Given the description of an element on the screen output the (x, y) to click on. 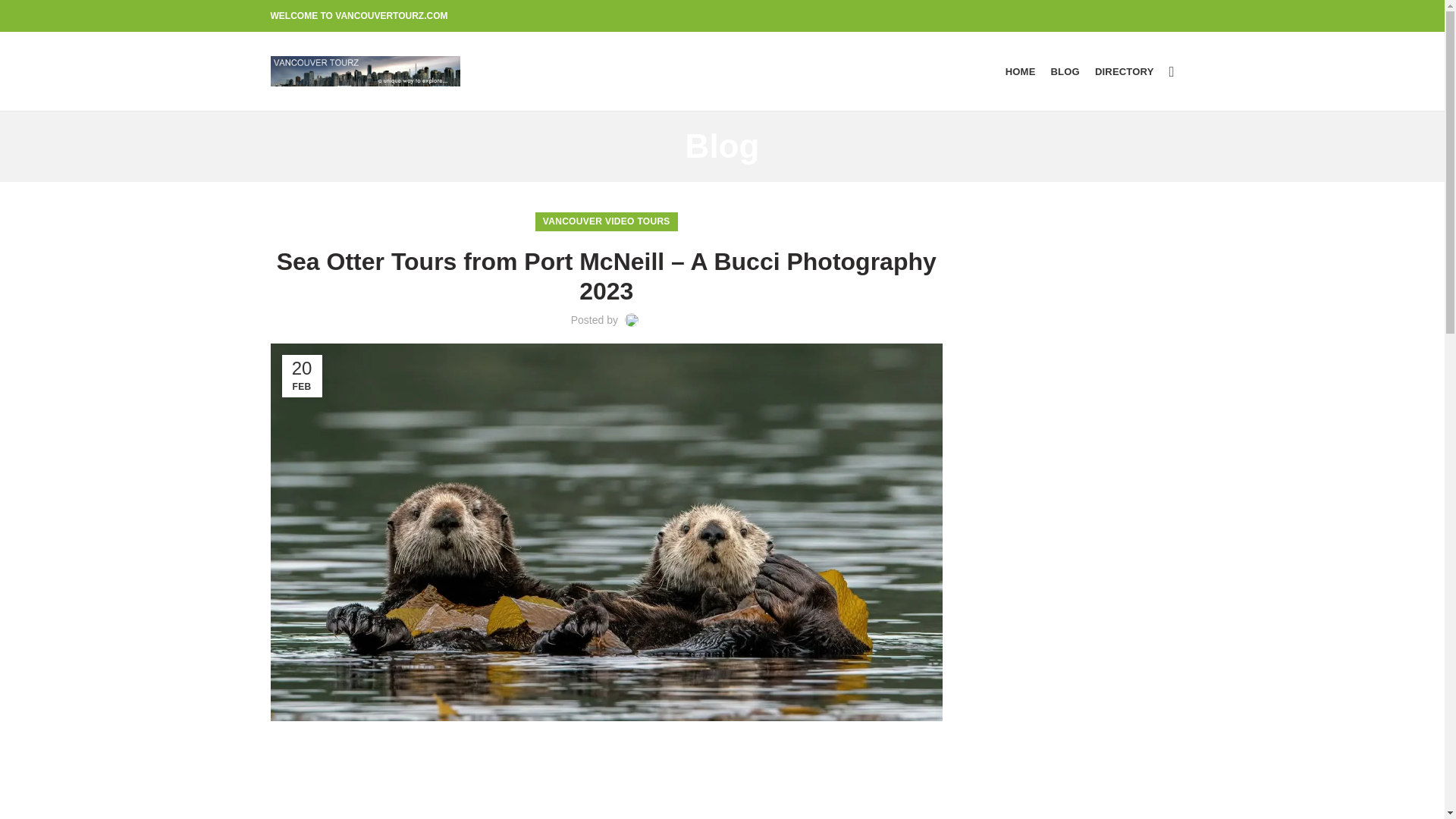
DIRECTORY (1124, 71)
HOME (1020, 71)
BLOG (1065, 71)
VANCOUVER VIDEO TOURS (606, 221)
